Given the description of an element on the screen output the (x, y) to click on. 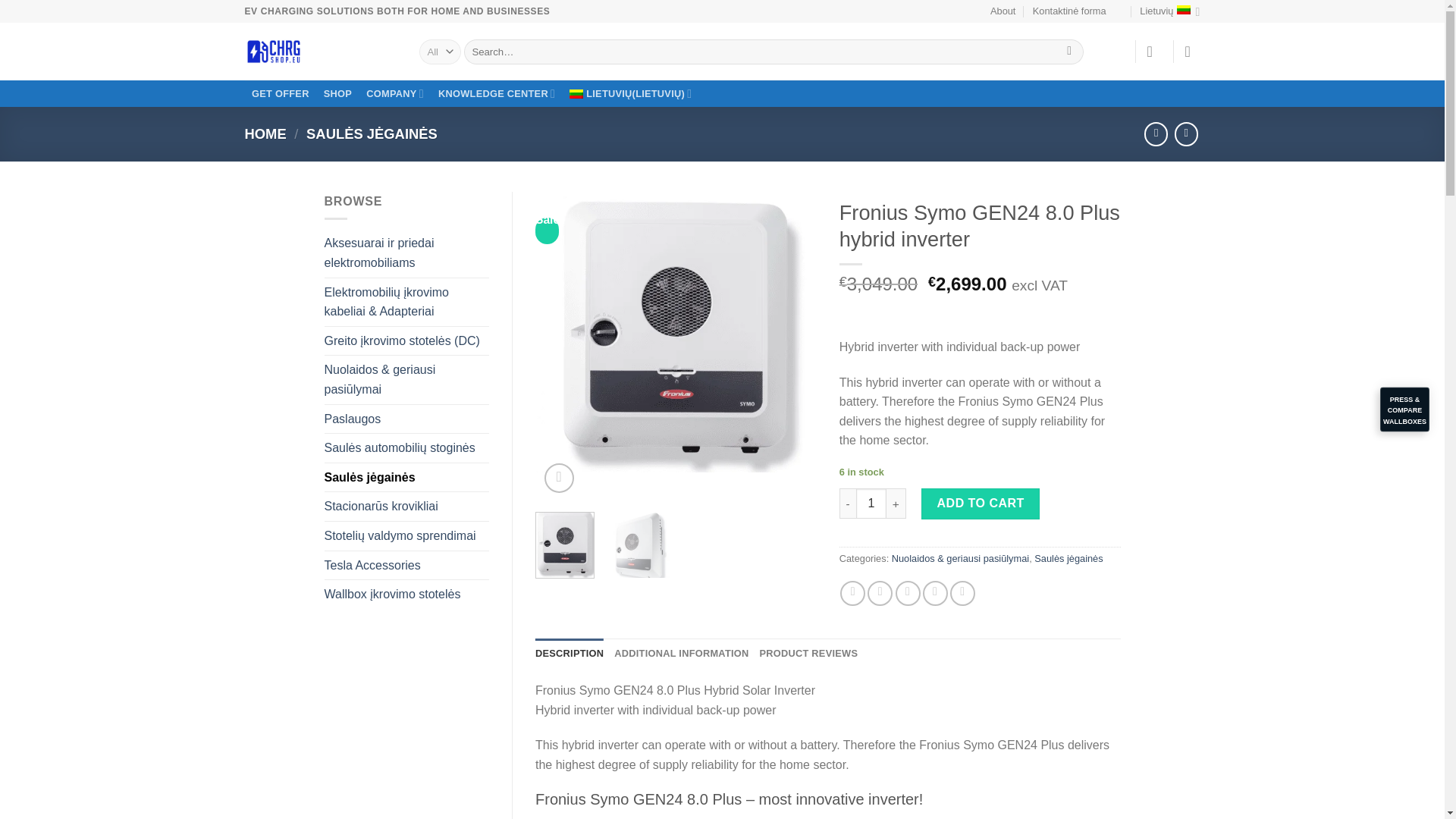
About (1002, 11)
COMPANY (394, 93)
KNOWLEDGE CENTER (496, 93)
1 (871, 503)
Search (1069, 52)
SHOP (336, 93)
GET OFFER (279, 93)
